Given the description of an element on the screen output the (x, y) to click on. 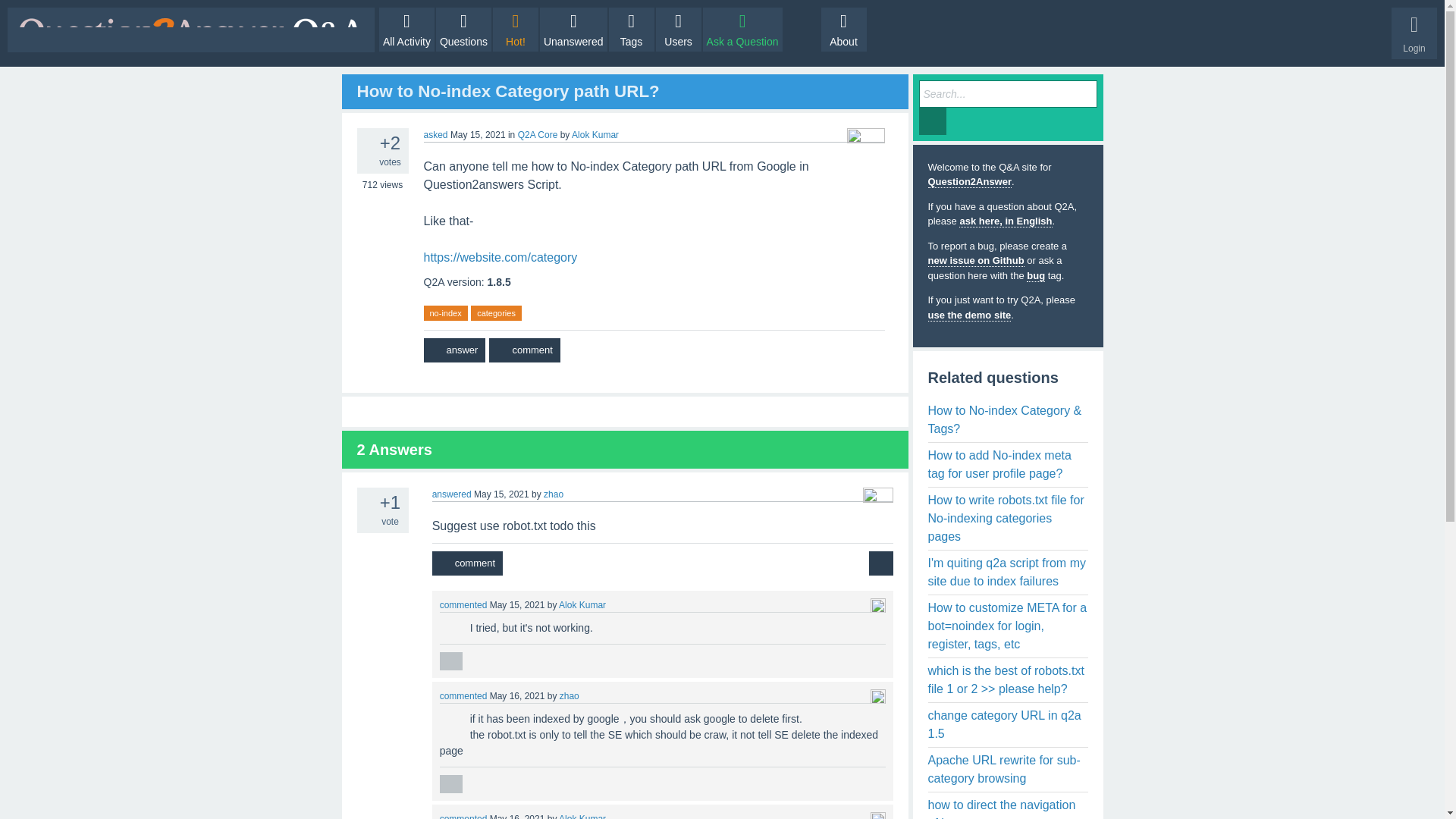
Click to vote up (443, 622)
answer (453, 350)
Answer this question (453, 350)
Ask a Question (743, 29)
Click to vote up (443, 714)
comment (524, 350)
zhao (553, 493)
comment (467, 563)
ask related question (881, 563)
Alok Kumar (595, 134)
